Given the description of an element on the screen output the (x, y) to click on. 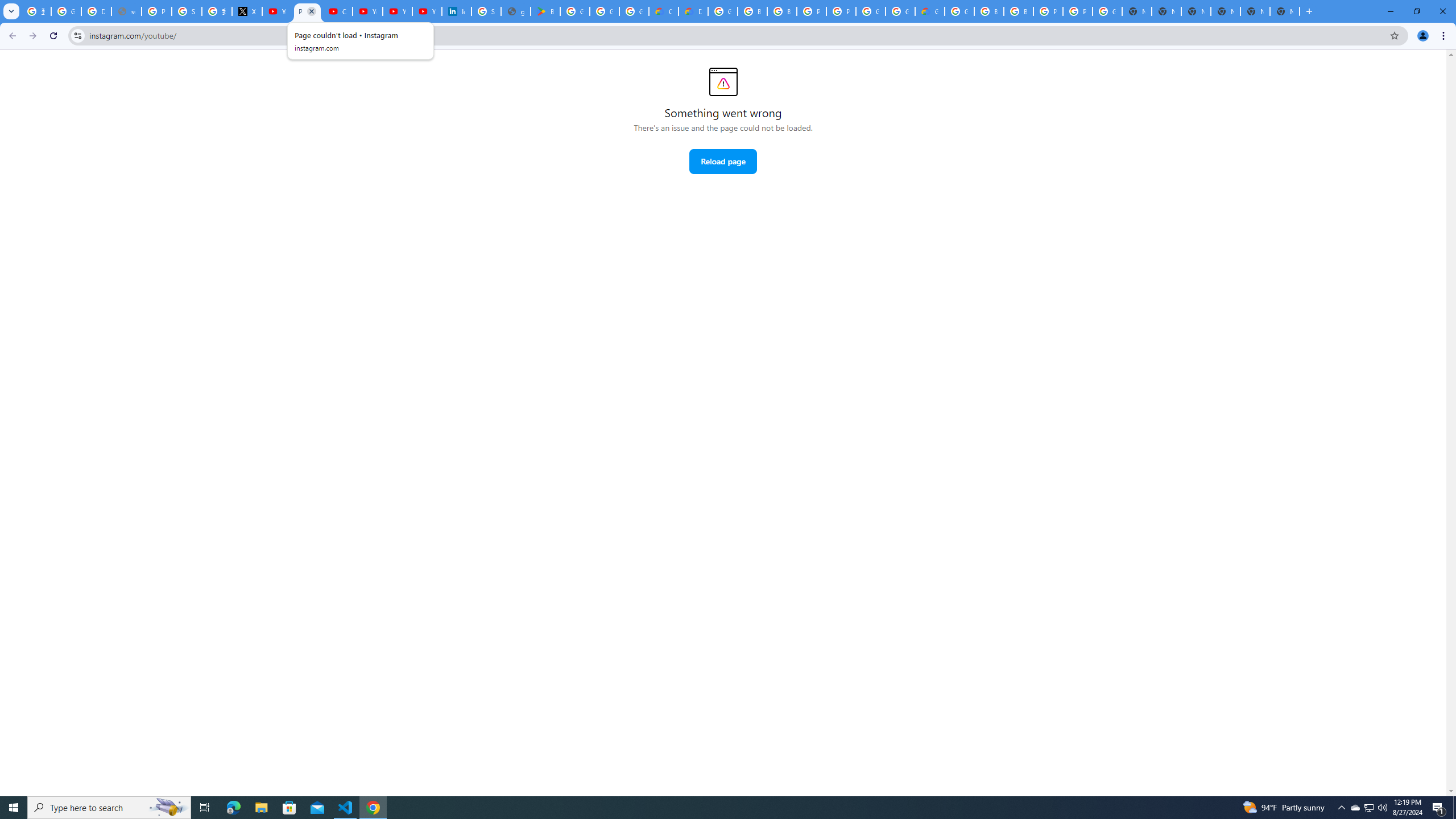
Privacy Help Center - Policies Help (156, 11)
Reload page (722, 161)
Identity verification via Persona | LinkedIn Help (456, 11)
New Tab (1284, 11)
Browse Chrome as a guest - Computer - Google Chrome Help (1018, 11)
Address and search bar (735, 35)
Browse Chrome as a guest - Computer - Google Chrome Help (751, 11)
